Given the description of an element on the screen output the (x, y) to click on. 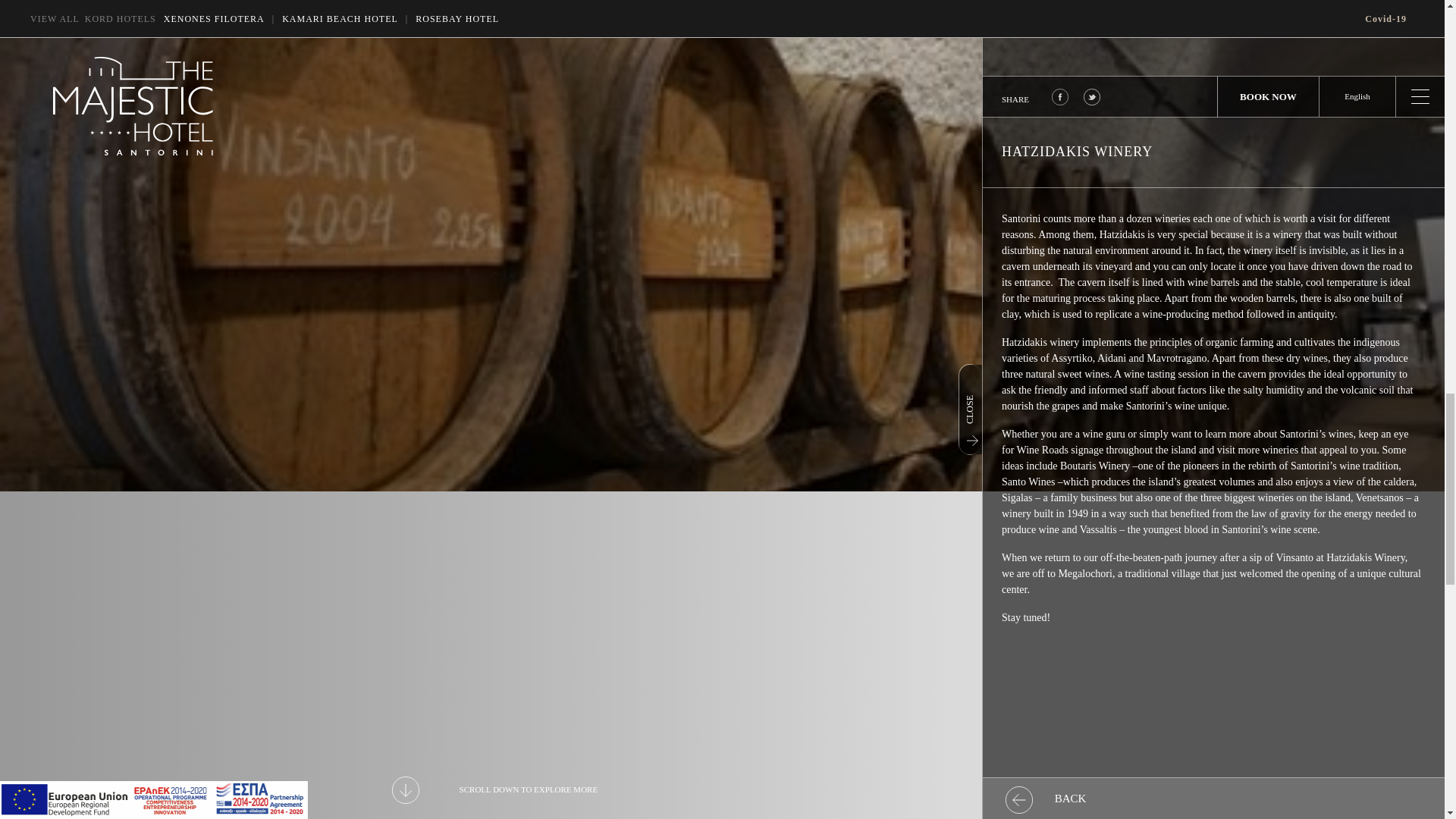
SCROLL DOWN TO EXPLORE MORE (495, 790)
SCROLL DOWN TO EXPLORE MORE (495, 790)
